Given the description of an element on the screen output the (x, y) to click on. 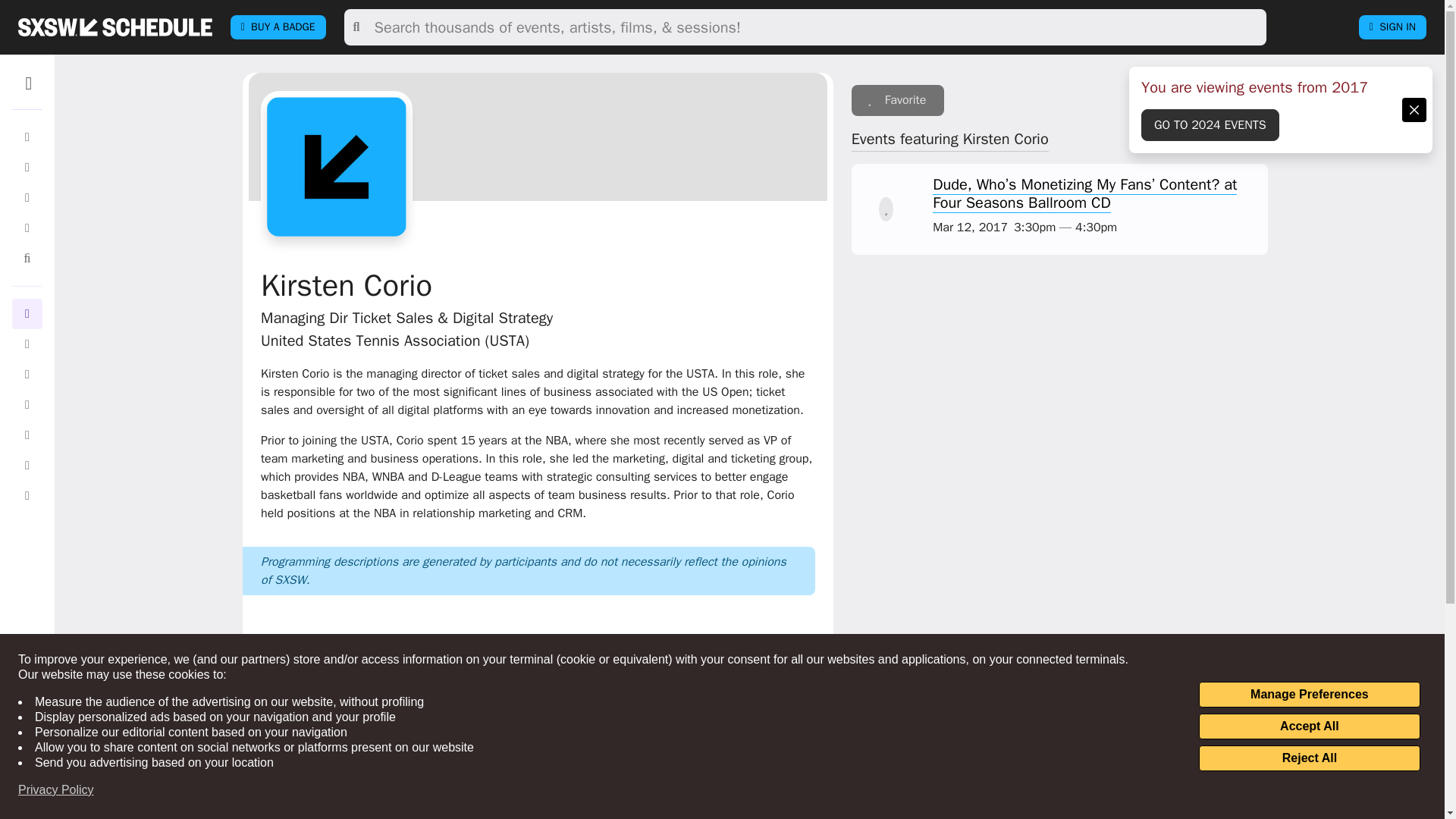
SIGN IN (1392, 27)
Manage Preferences (1309, 694)
sxsw SCHEDULE (114, 27)
Privacy Policy (55, 789)
BUY A BADGE (278, 27)
Reject All (1309, 758)
Accept All (1309, 726)
GO TO 2024 EVENTS (1210, 124)
Sign In to add to your favorites. (897, 100)
